Given the description of an element on the screen output the (x, y) to click on. 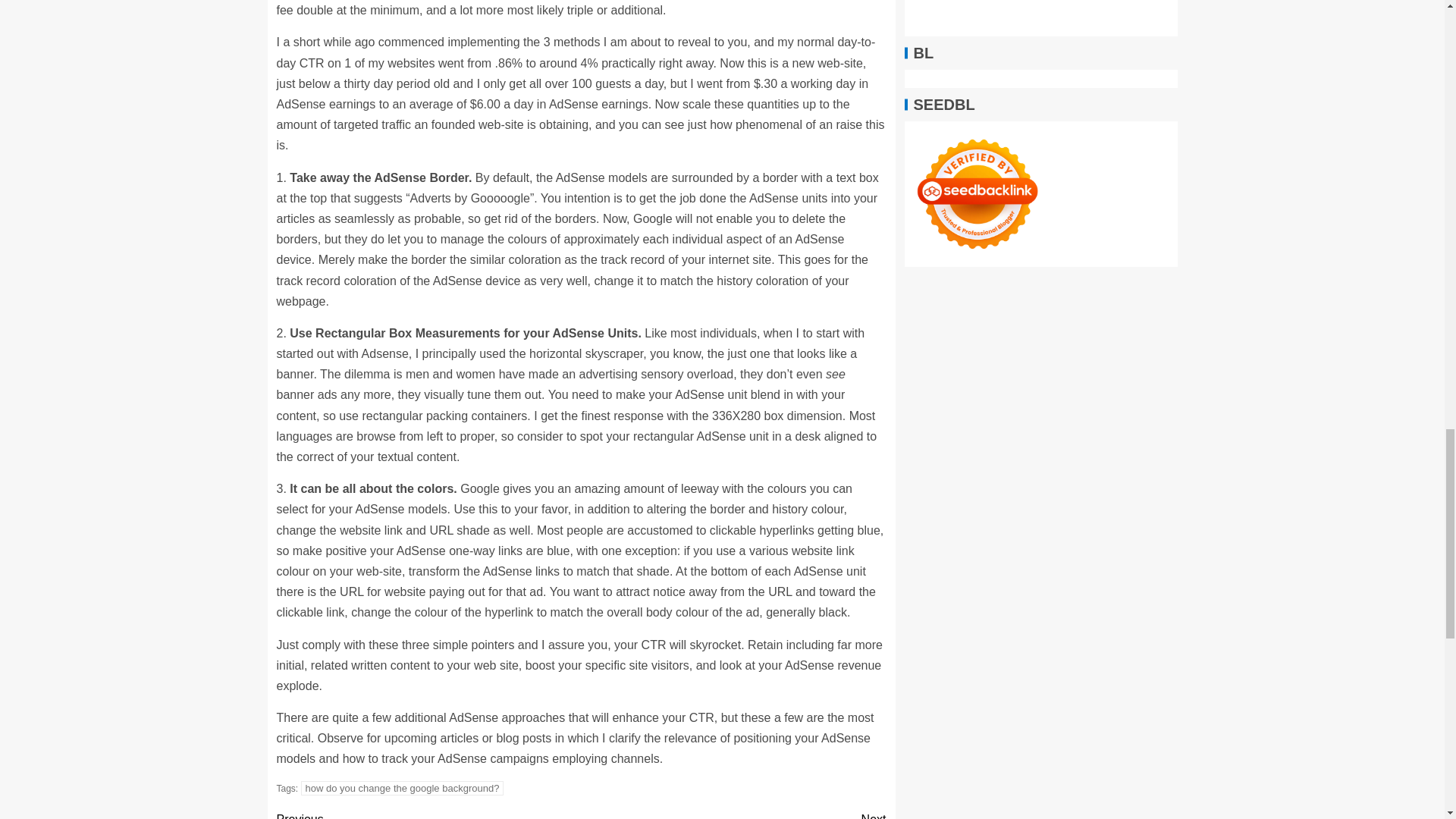
how do you change the google background? (428, 814)
